Given the description of an element on the screen output the (x, y) to click on. 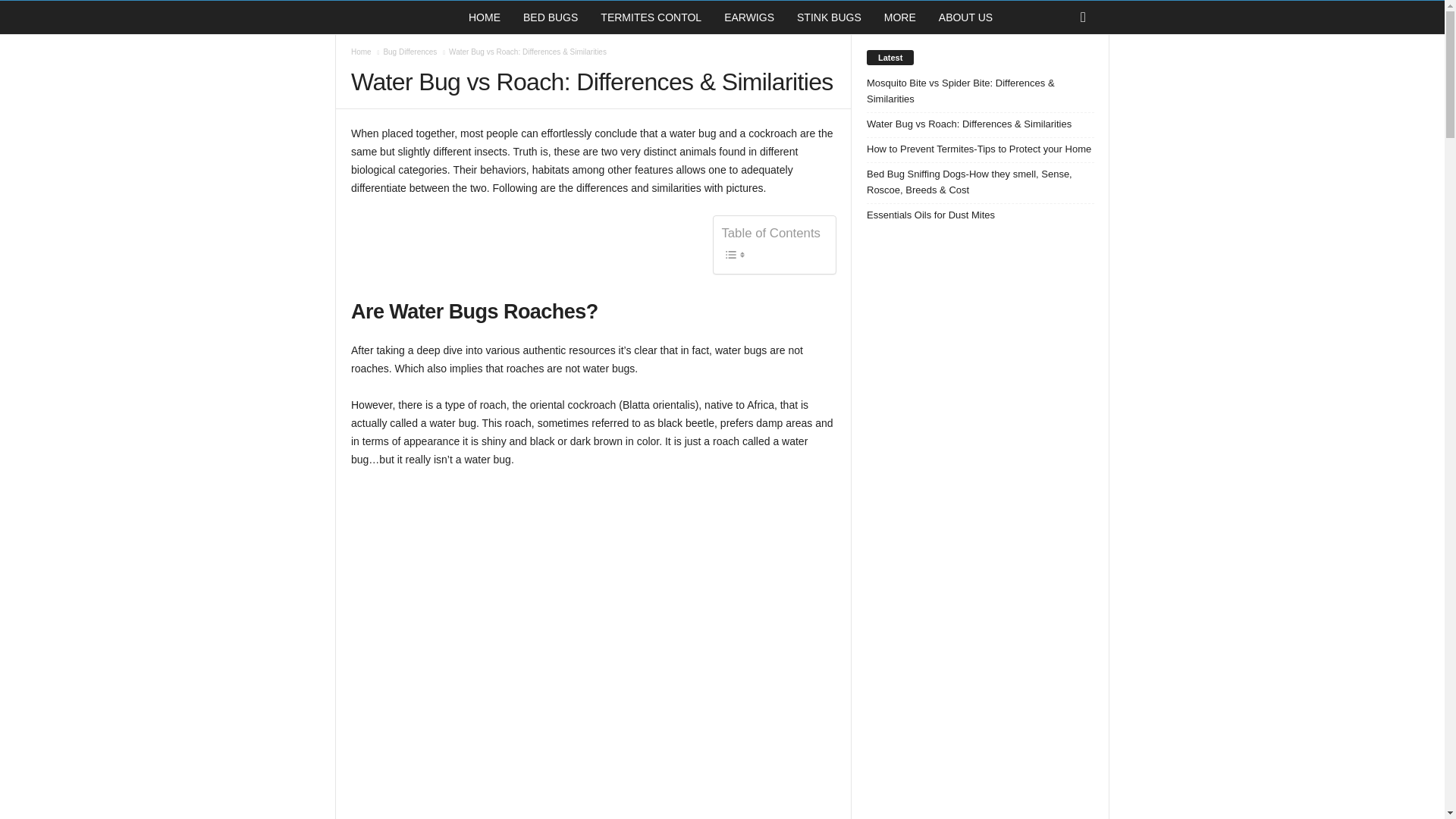
BED BUGS (550, 17)
MORE (899, 17)
Pestbugs (387, 16)
Pestbugs (395, 16)
View all posts in Bug Differences (409, 51)
STINK BUGS (829, 17)
EARWIGS (749, 17)
HOME (484, 17)
TERMITES CONTOL (651, 17)
